Given the description of an element on the screen output the (x, y) to click on. 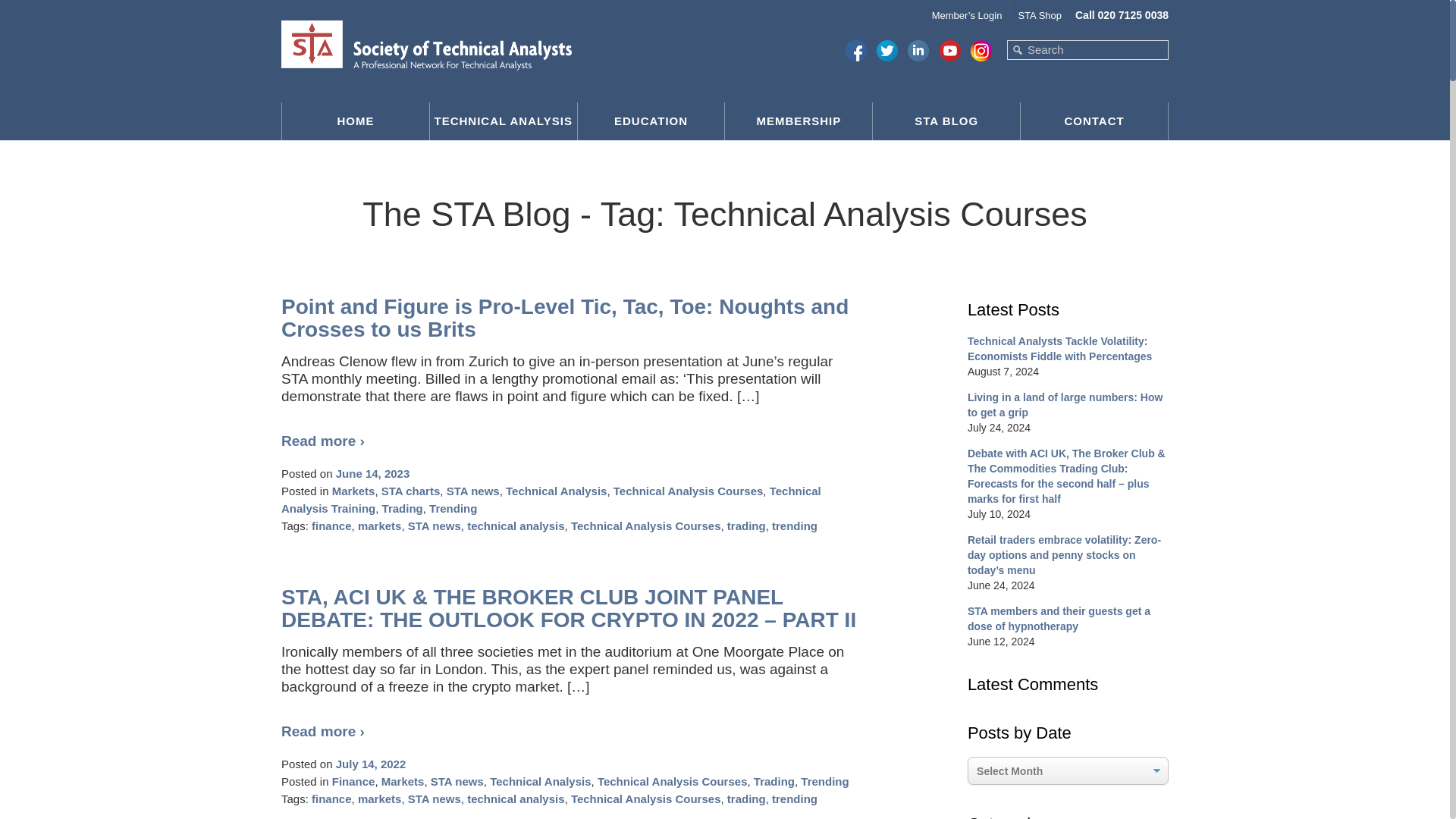
STA BLOG (946, 121)
STA Shop (1035, 7)
STA on Facebook (855, 50)
HOME (355, 121)
CONTACT (1093, 121)
Call 020 7125 0038 (1122, 15)
STA YouTube Channel (949, 50)
8:27 am (372, 762)
Go (1018, 49)
